Given the description of an element on the screen output the (x, y) to click on. 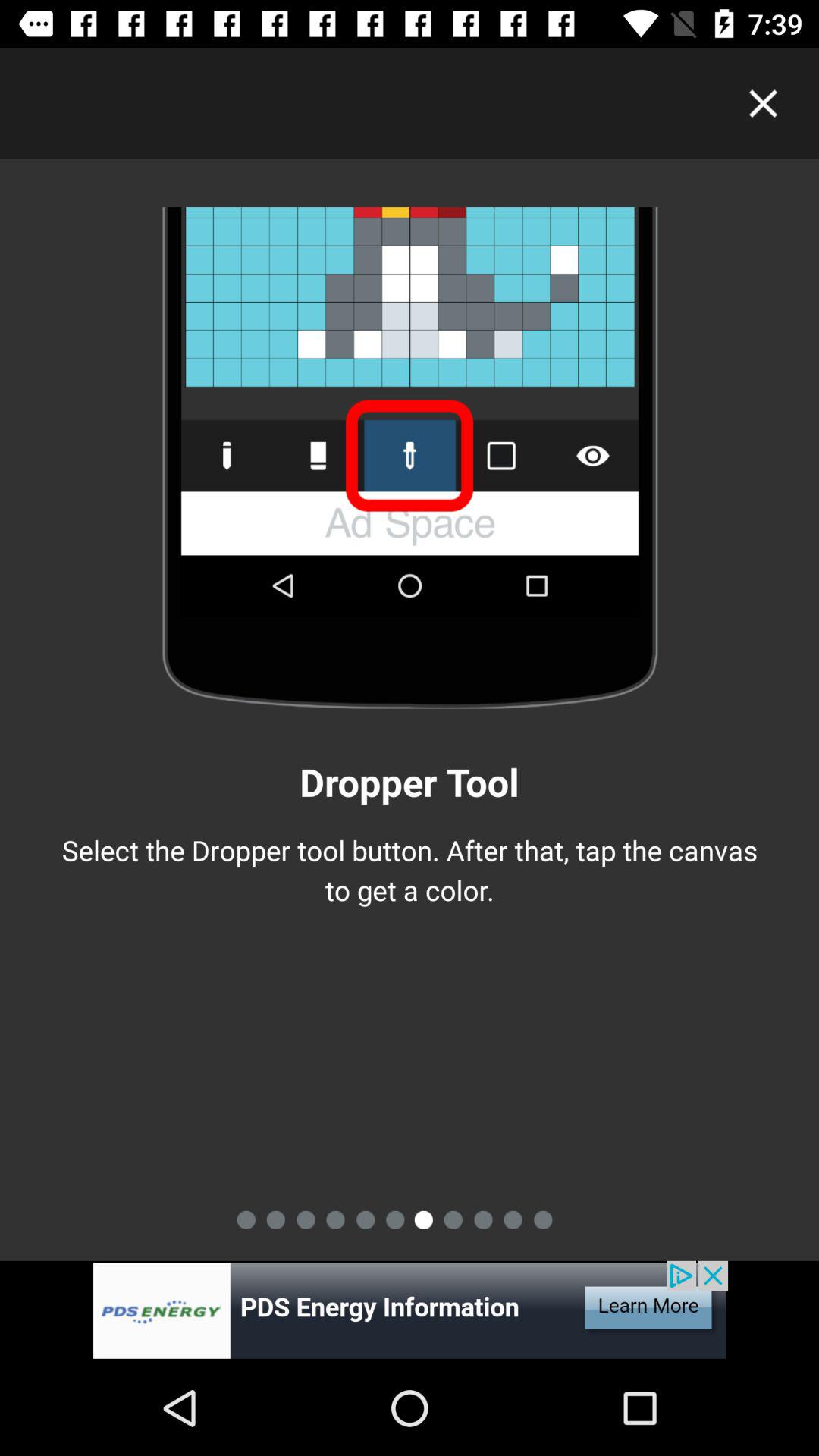
see advertisement (409, 1310)
